Given the description of an element on the screen output the (x, y) to click on. 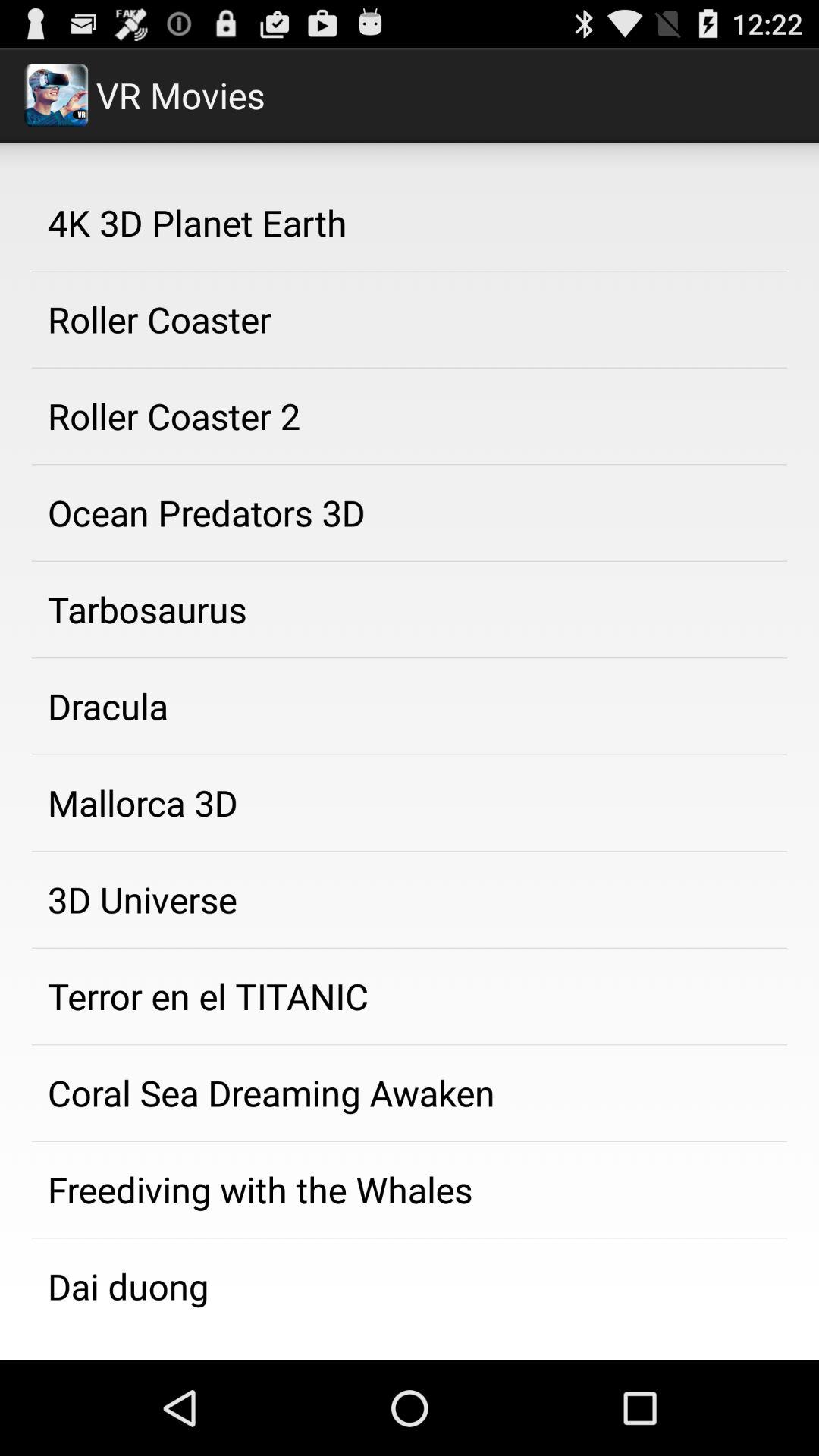
select the app above the roller coaster icon (409, 222)
